Given the description of an element on the screen output the (x, y) to click on. 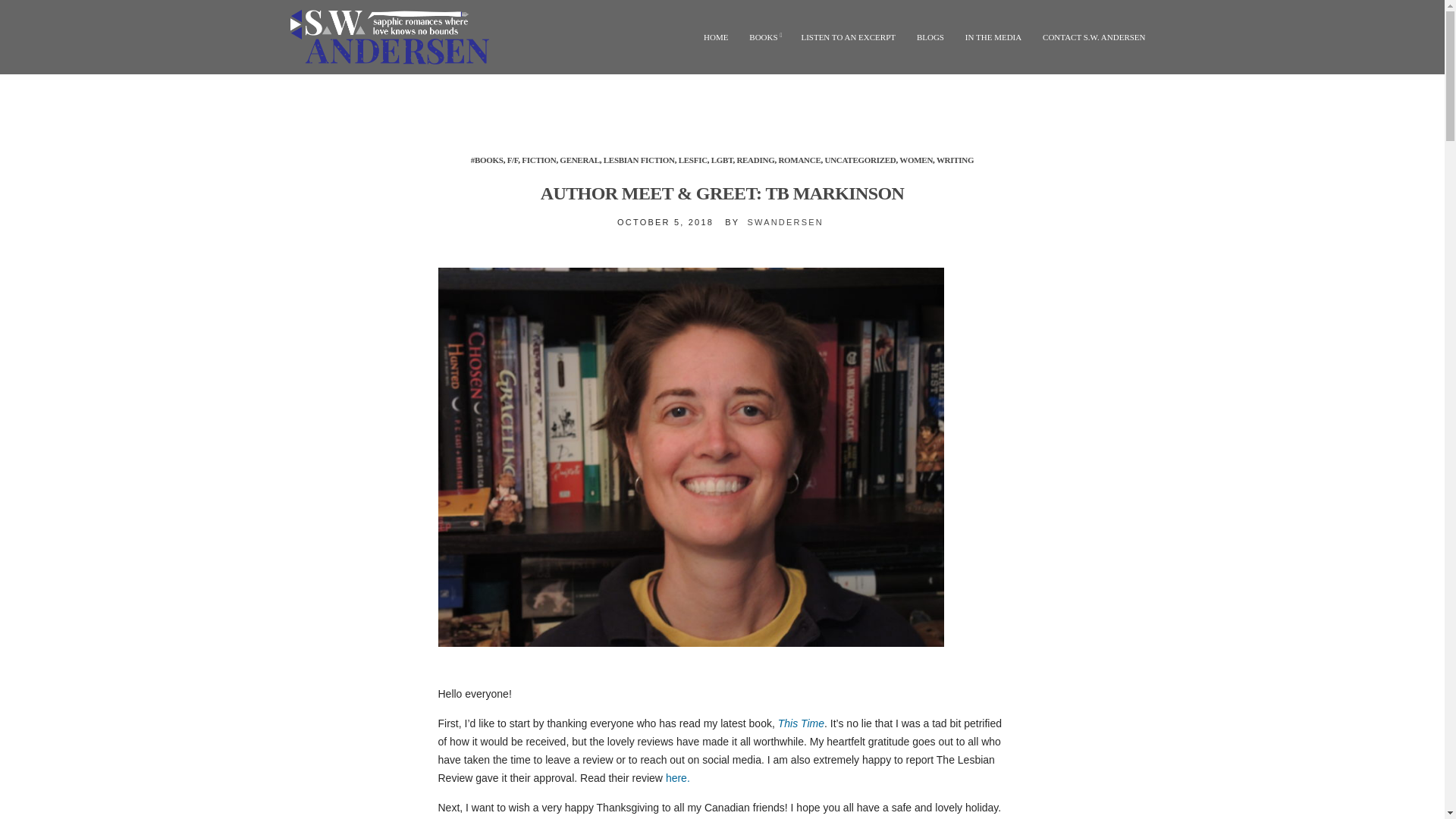
HOME (715, 37)
BOOKS (763, 37)
LISTEN TO AN EXCERPT (847, 37)
